Given the description of an element on the screen output the (x, y) to click on. 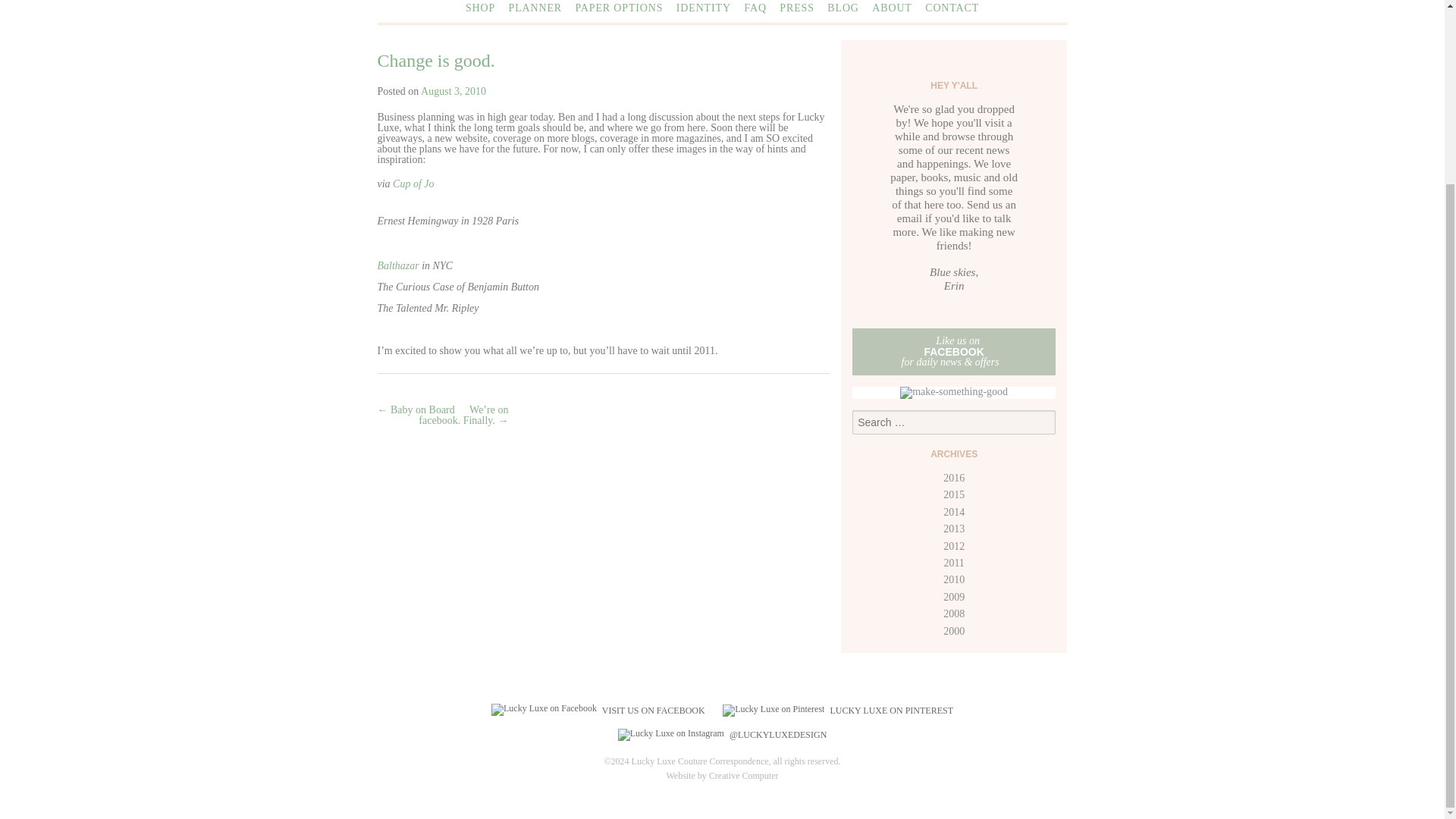
FAQ (755, 7)
SHOP (480, 7)
2016 (953, 478)
CONTACT (951, 7)
PAPER OPTIONS (618, 7)
PLANNER (535, 7)
August 3, 2010 (453, 91)
Cup of Jo (413, 183)
BLOG (843, 7)
PRESS (795, 7)
IDENTITY (703, 7)
4:29 pm (453, 91)
ABOUT (891, 7)
Balthazar (398, 265)
2015 (953, 494)
